Given the description of an element on the screen output the (x, y) to click on. 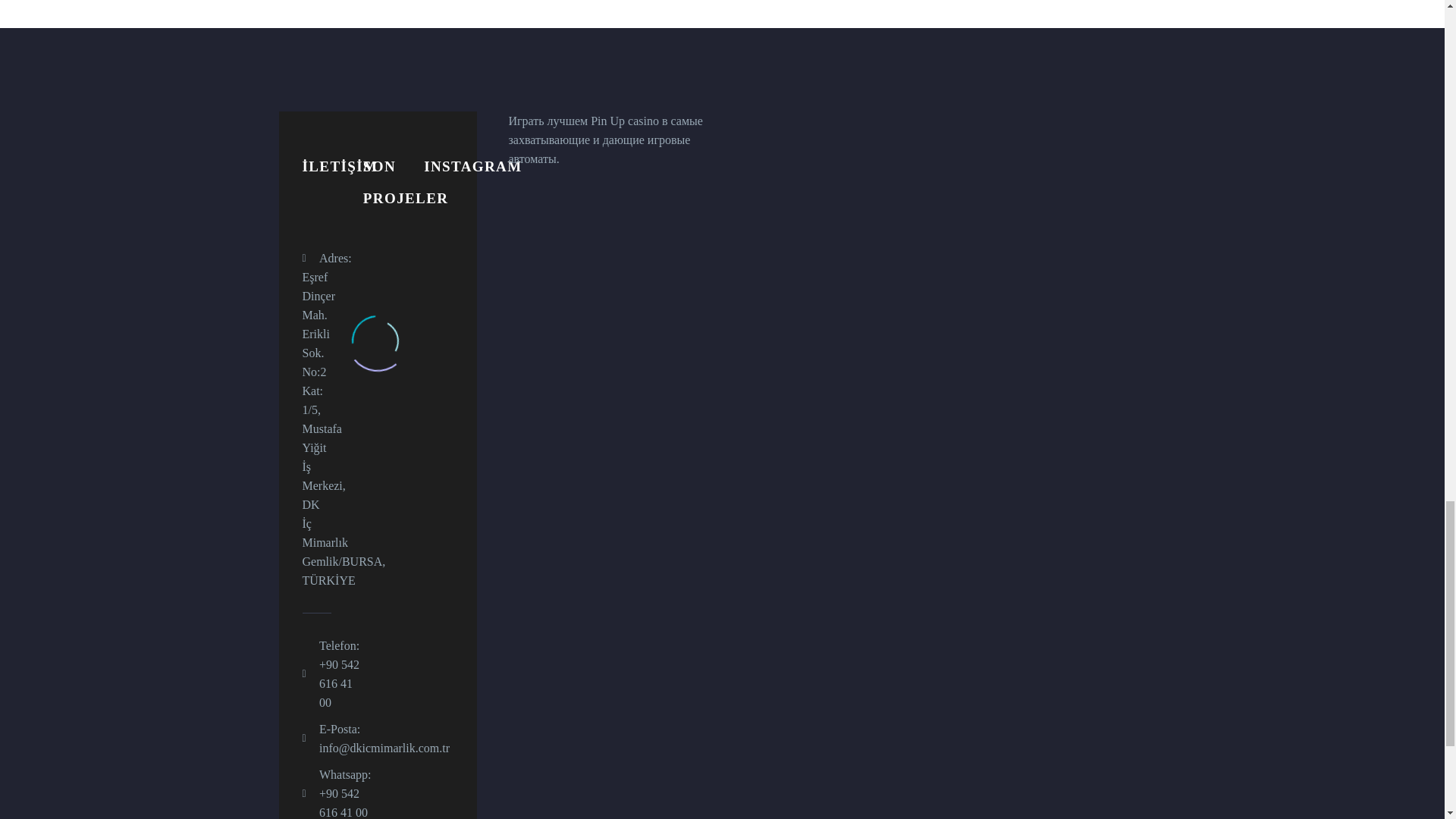
Pin Up casino (625, 120)
